Given the description of an element on the screen output the (x, y) to click on. 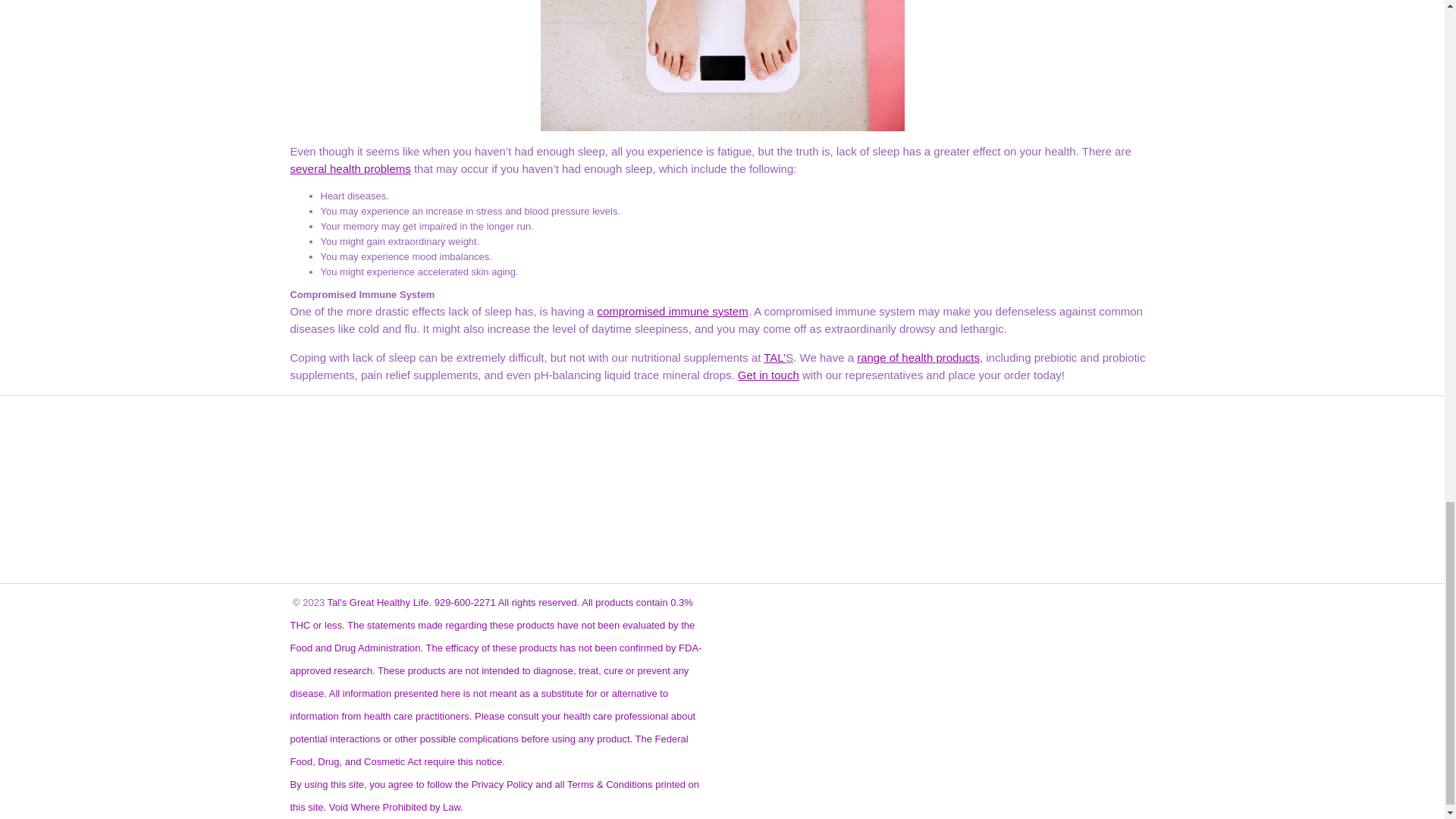
compromised immune system (672, 310)
several health problems (349, 168)
Get in touch (768, 374)
range of health products (918, 357)
